Given the description of an element on the screen output the (x, y) to click on. 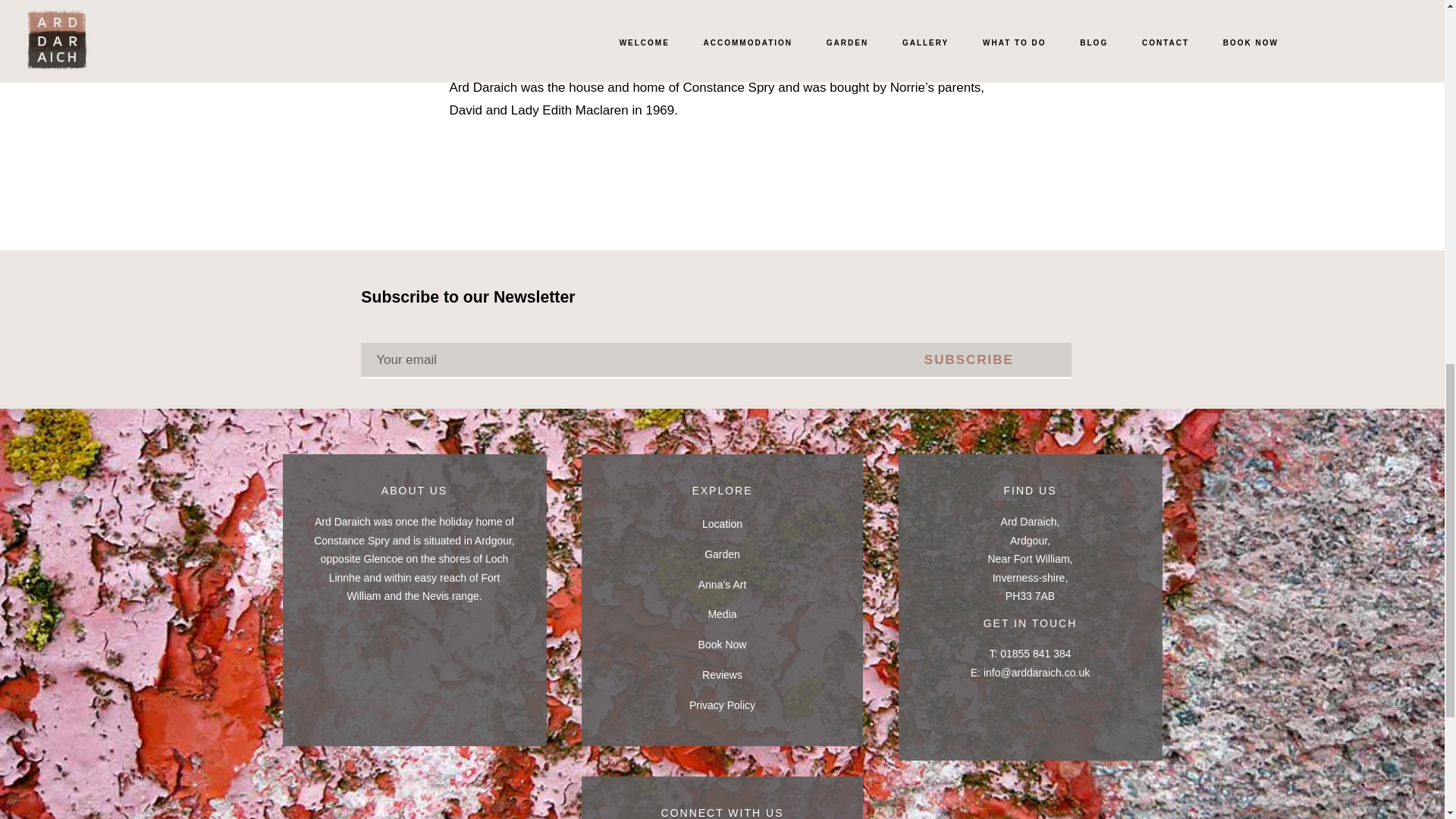
Media (721, 613)
Location (721, 523)
Reviews (721, 674)
Privacy Policy (721, 705)
Garden (721, 553)
Subscribe (968, 359)
Subscribe (968, 359)
Book Now (722, 644)
